Given the description of an element on the screen output the (x, y) to click on. 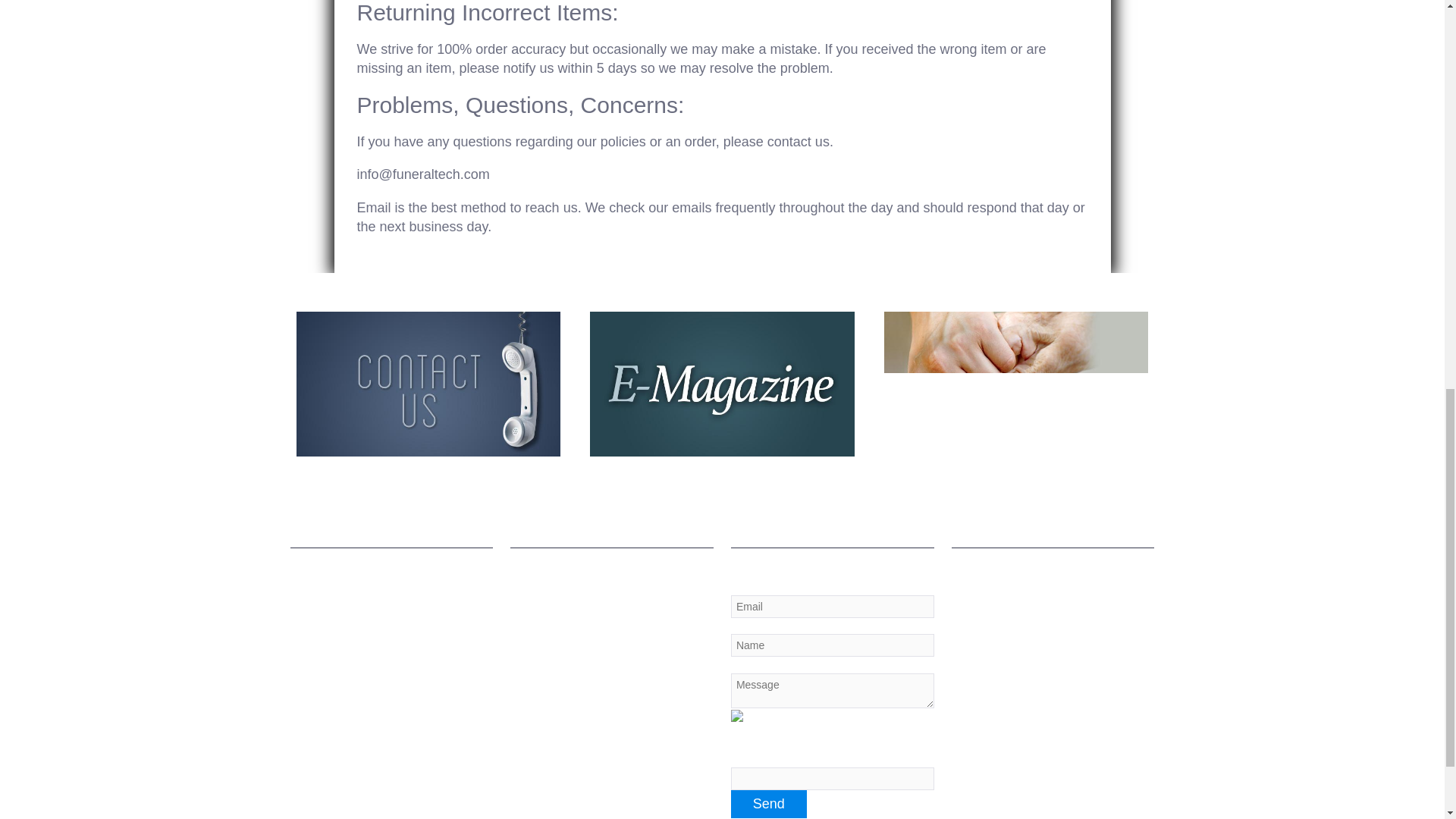
News (1063, 664)
Refresh (764, 715)
Grief Resources (1063, 589)
Training (1062, 639)
Contact Us (1062, 614)
Send (768, 804)
